Given the description of an element on the screen output the (x, y) to click on. 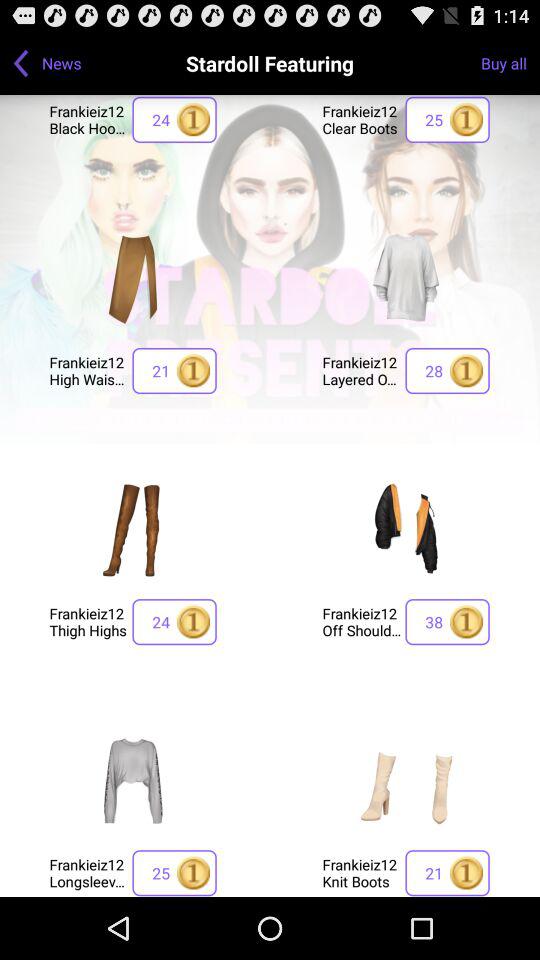
launch the frankieiz12 thigh highs (88, 621)
